Given the description of an element on the screen output the (x, y) to click on. 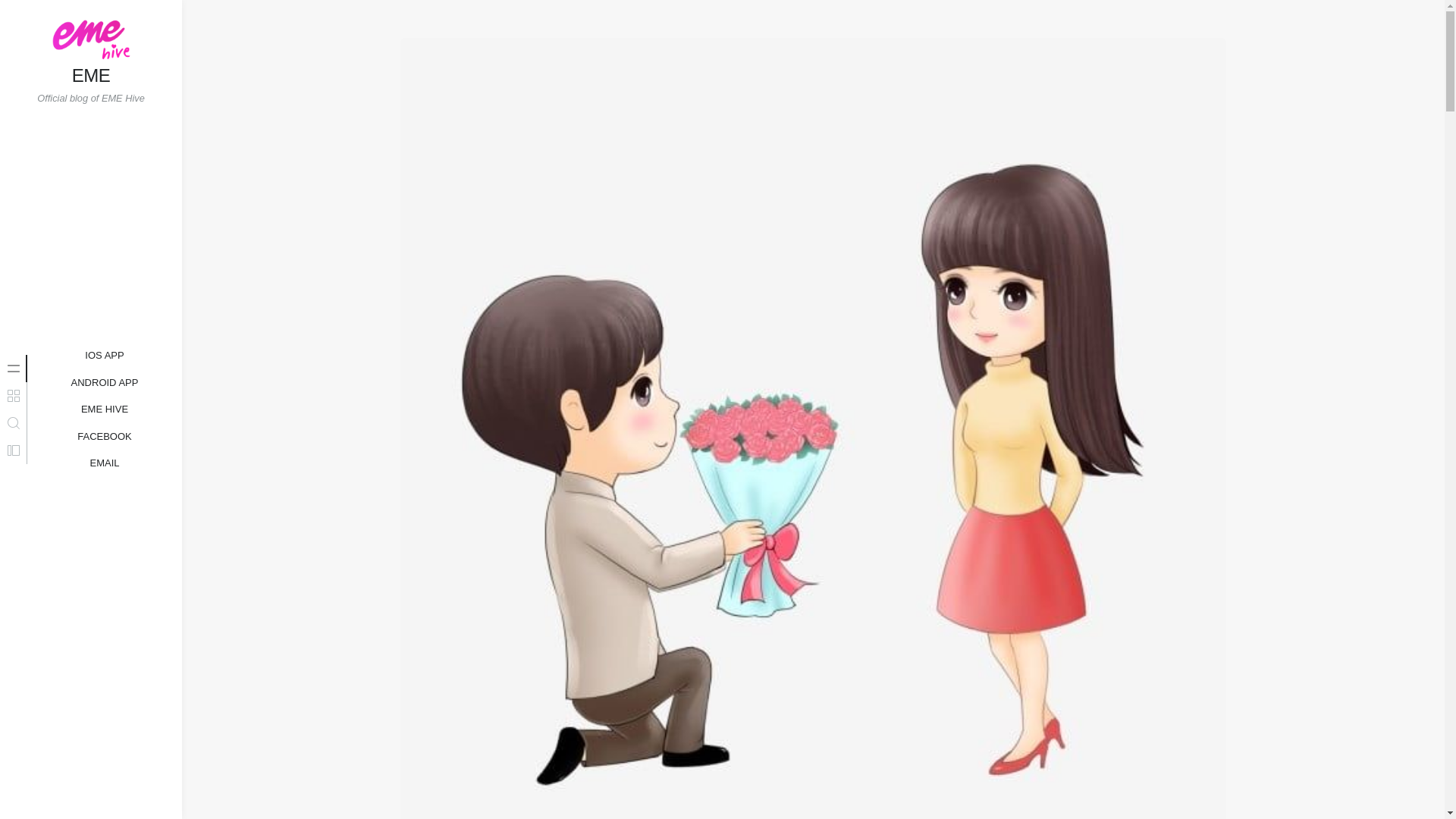
ANDROID APP (104, 382)
EMAIL (103, 463)
EME (104, 409)
FACEBOOK (90, 75)
IOS APP (104, 436)
EME HIVE (104, 409)
